Given the description of an element on the screen output the (x, y) to click on. 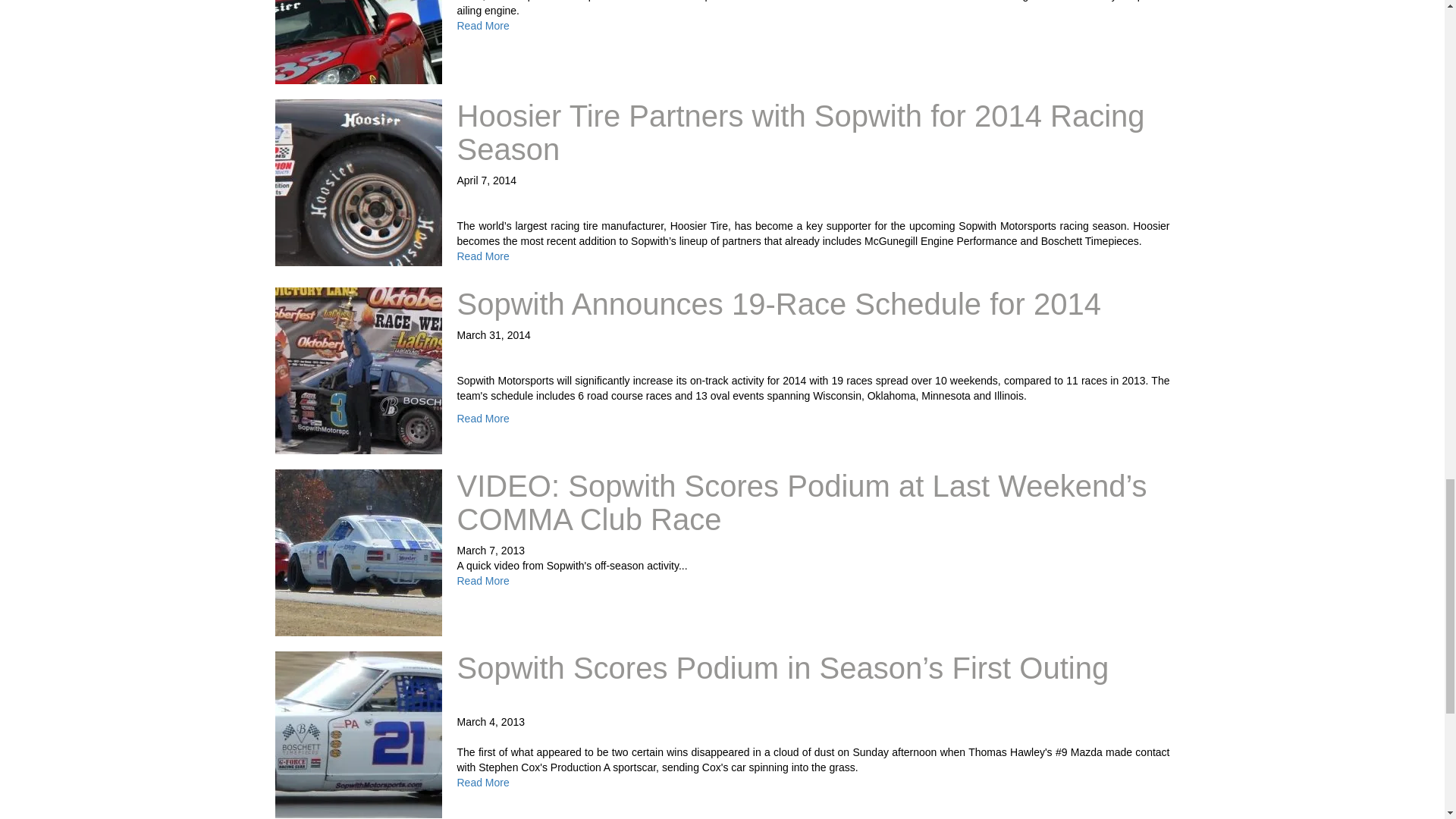
Hoosier Tire Partners with Sopwith for 2014 Racing Season (800, 132)
Sopwith Announces 19-Race Schedule for 2014 (778, 304)
Hoosier Tire Partners with Sopwith for 2014 Racing Season (800, 132)
Read More (482, 25)
Read More (482, 256)
